Given the description of an element on the screen output the (x, y) to click on. 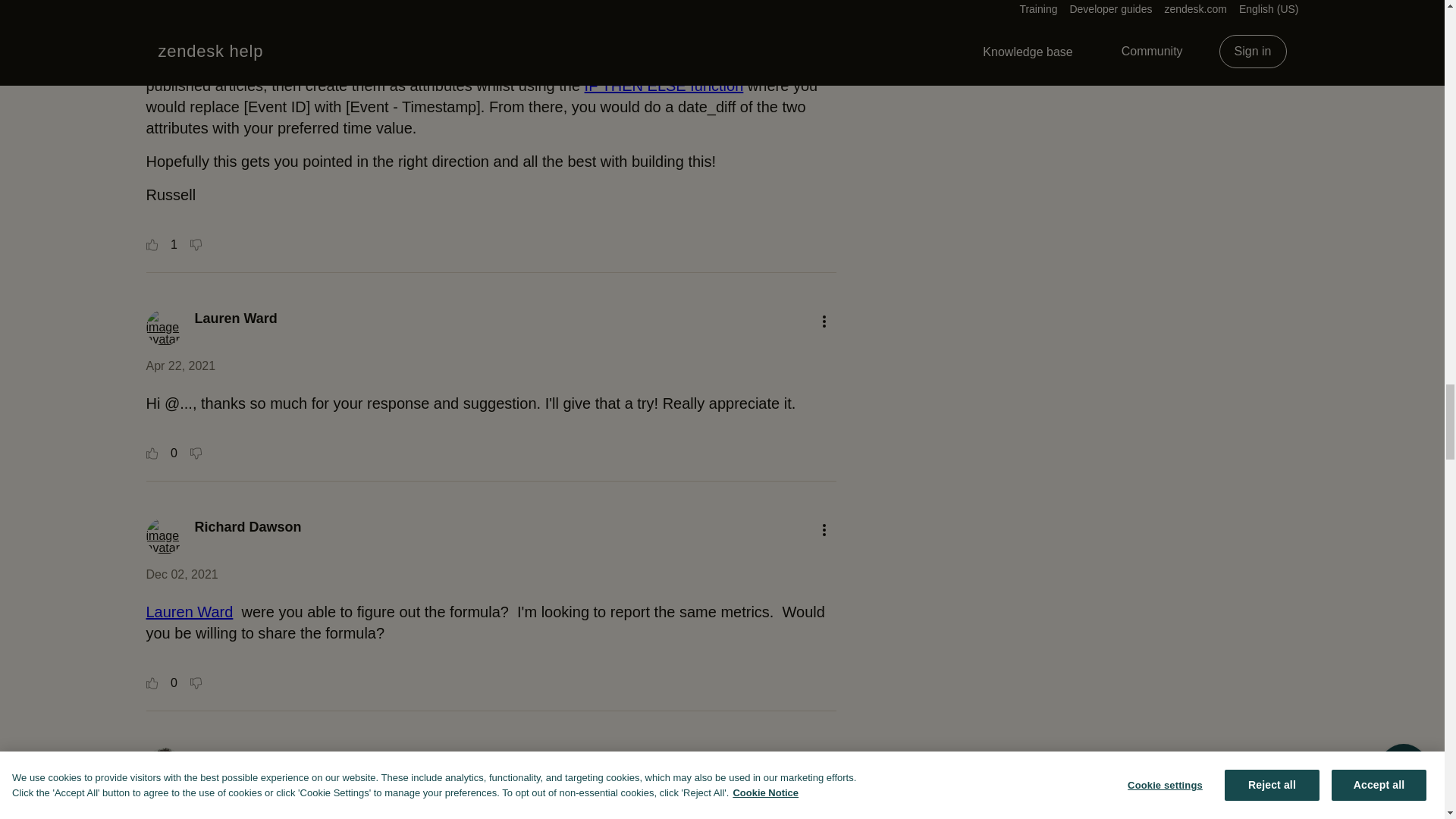
Apr 22, 2021 (180, 365)
Oct 14, 2022 (180, 803)
Dec 02, 2021 (180, 574)
